Given the description of an element on the screen output the (x, y) to click on. 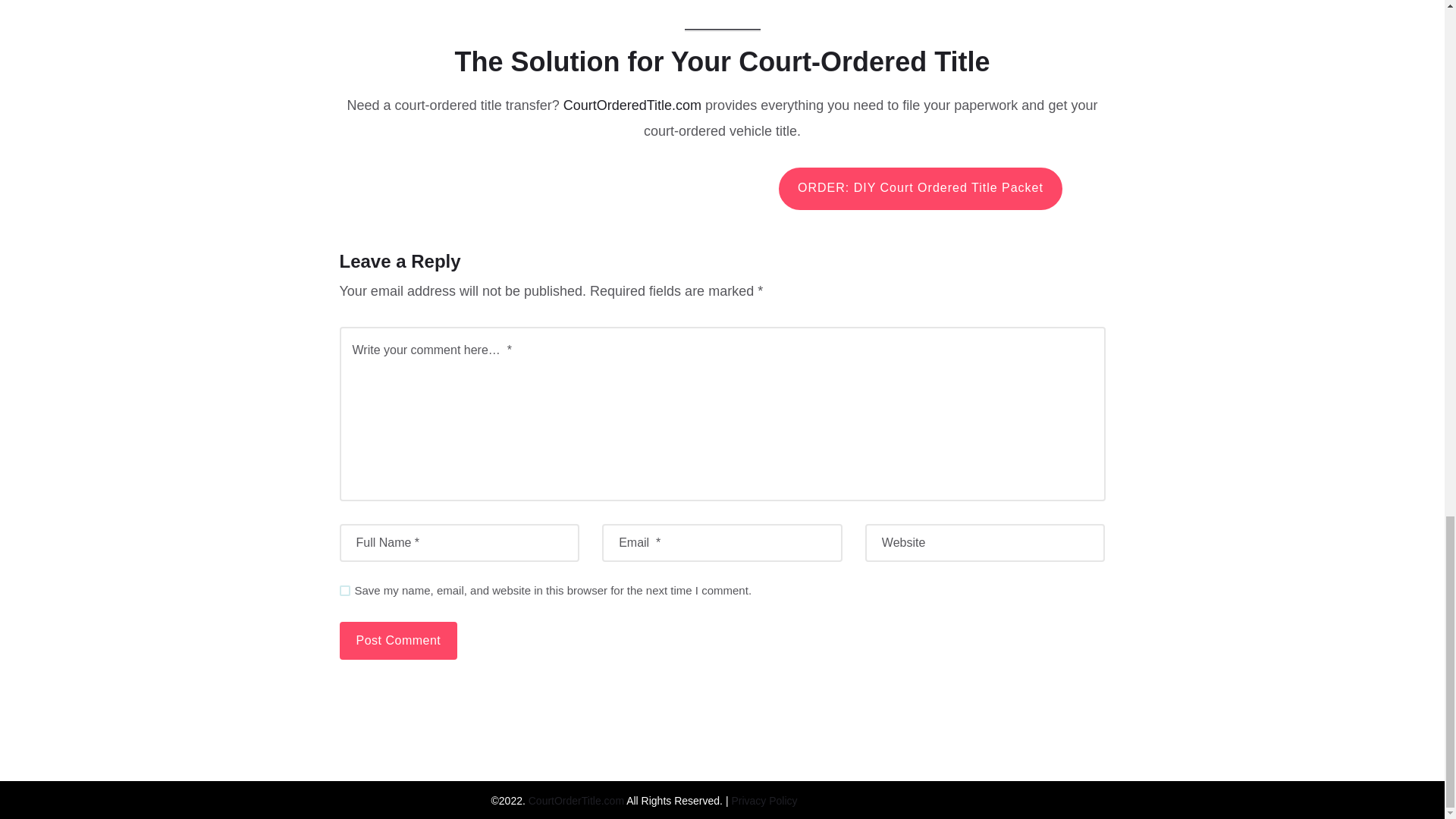
CourtOrderTitle.com (576, 800)
ORDER: DIY Court Ordered Title Packet (920, 188)
Privacy Policy (763, 799)
Post Comment (398, 640)
Post Comment (398, 640)
CourtOrderedTitle.com (632, 105)
